Given the description of an element on the screen output the (x, y) to click on. 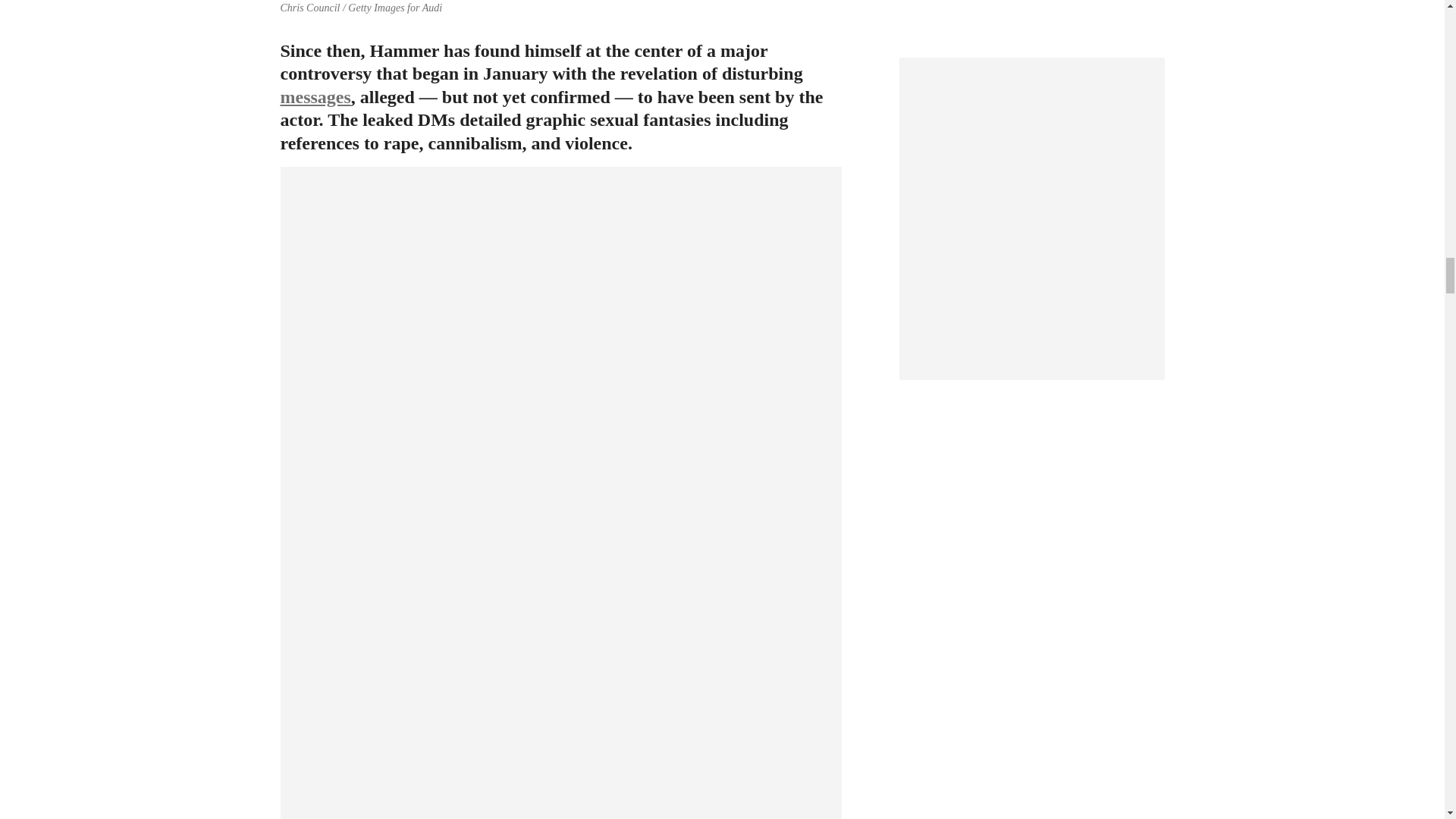
messages (315, 96)
